Given the description of an element on the screen output the (x, y) to click on. 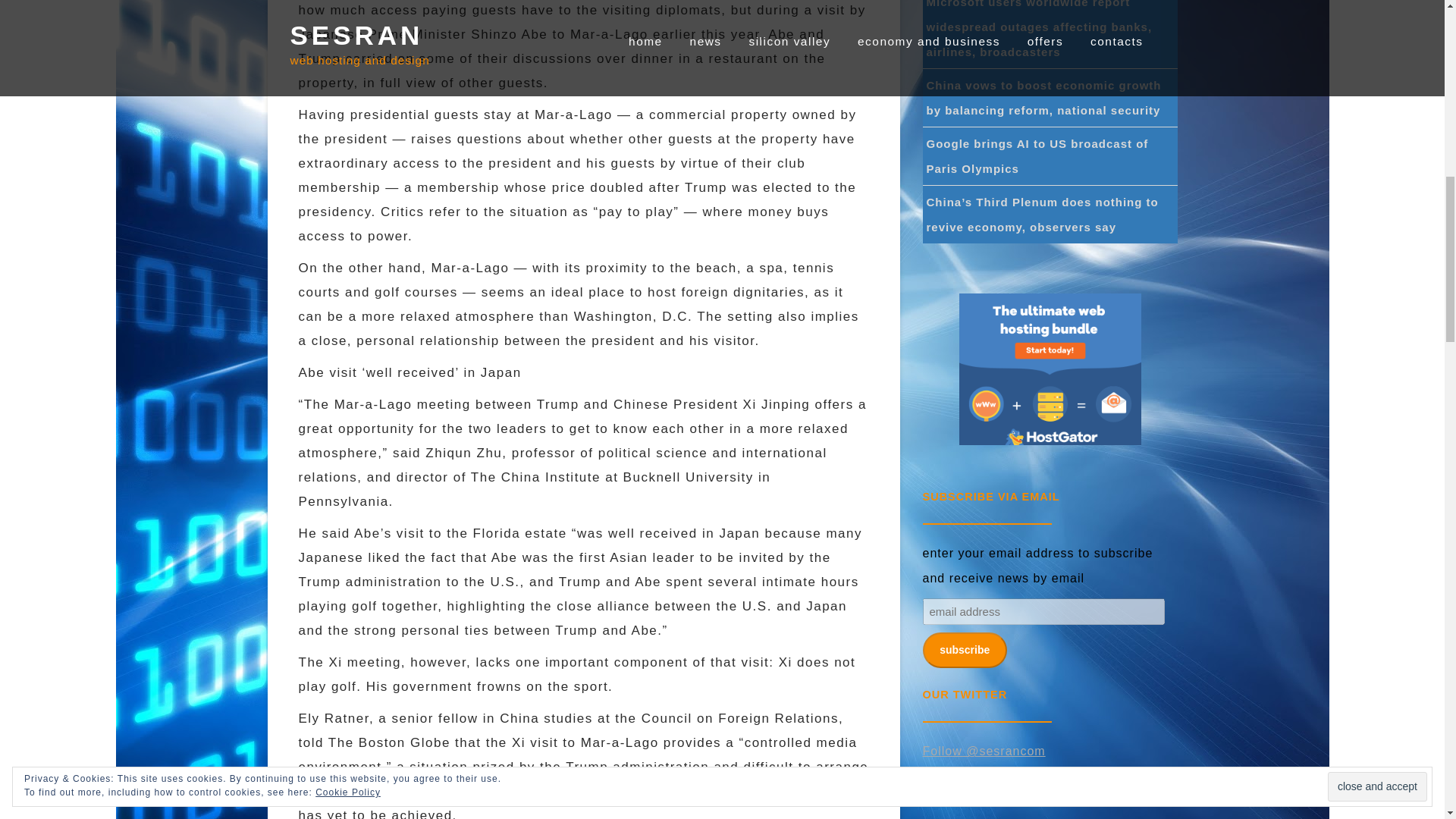
Google brings AI to US broadcast of Paris Olympics (1037, 156)
subscribe (963, 650)
